Given the description of an element on the screen output the (x, y) to click on. 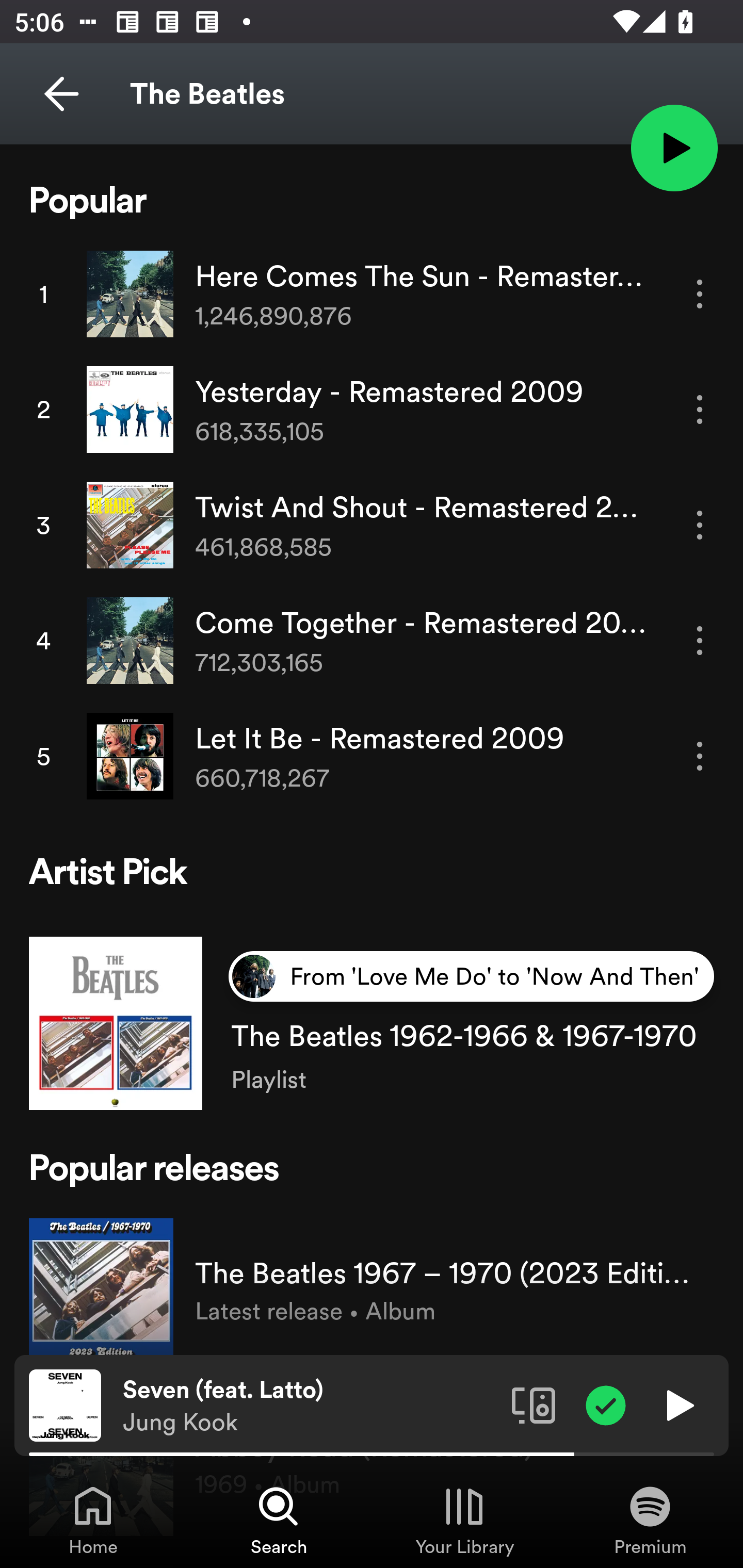
Back (60, 93)
Play artist (674, 147)
More options for song Yesterday - Remastered 2009 (699, 409)
More options for song Let It Be - Remastered 2009 (699, 756)
Seven (feat. Latto) Jung Kook (309, 1405)
The cover art of the currently playing track (64, 1404)
Connect to a device. Opens the devices menu (533, 1404)
Item added (605, 1404)
Play (677, 1404)
Home, Tab 1 of 4 Home Home (92, 1519)
Search, Tab 2 of 4 Search Search (278, 1519)
Your Library, Tab 3 of 4 Your Library Your Library (464, 1519)
Premium, Tab 4 of 4 Premium Premium (650, 1519)
